Given the description of an element on the screen output the (x, y) to click on. 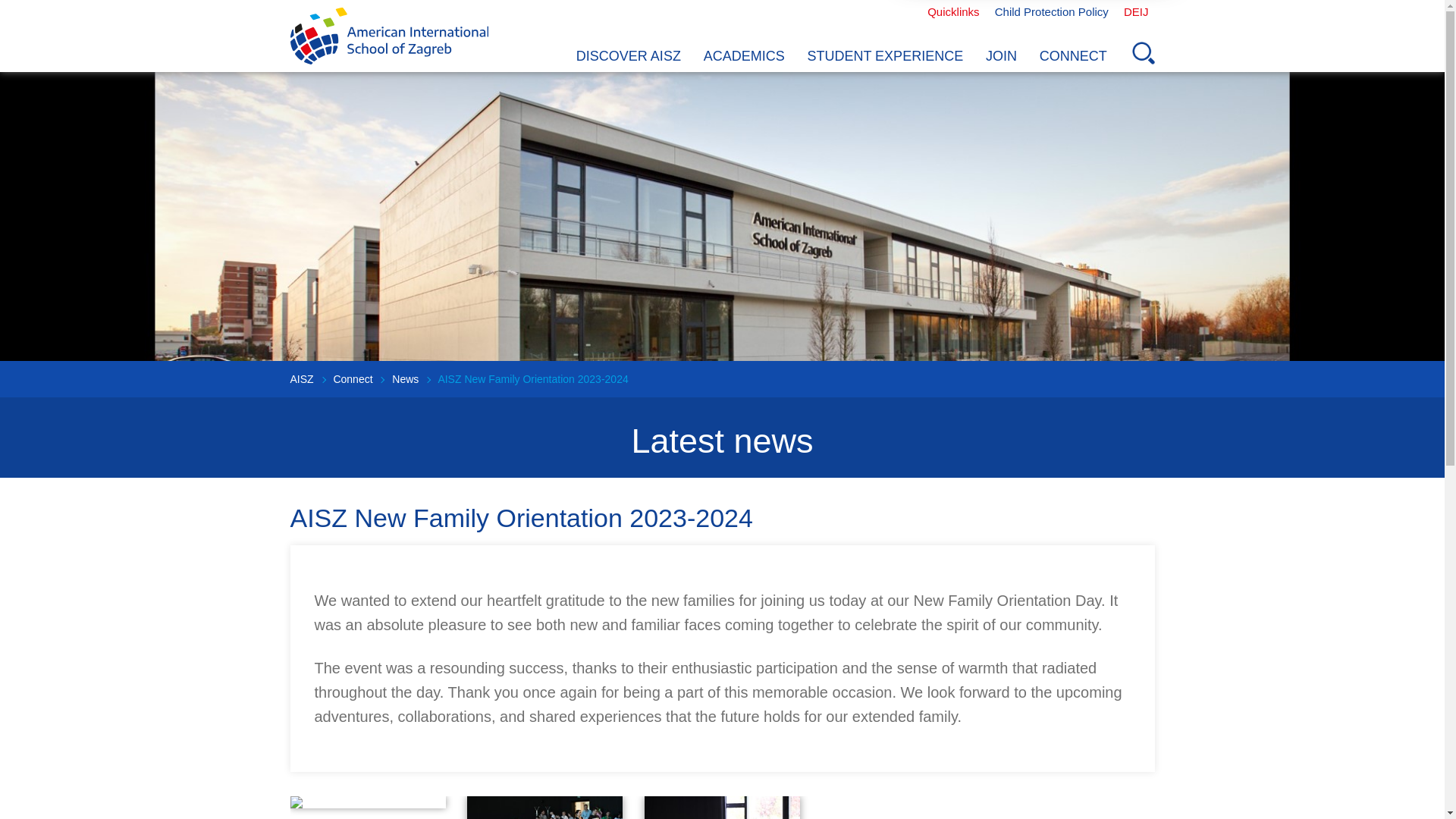
ACADEMICS (744, 56)
CONNECT (1072, 56)
DISCOVER AISZ (628, 56)
JOIN (1000, 56)
STUDENT EXPERIENCE (884, 56)
